Given the description of an element on the screen output the (x, y) to click on. 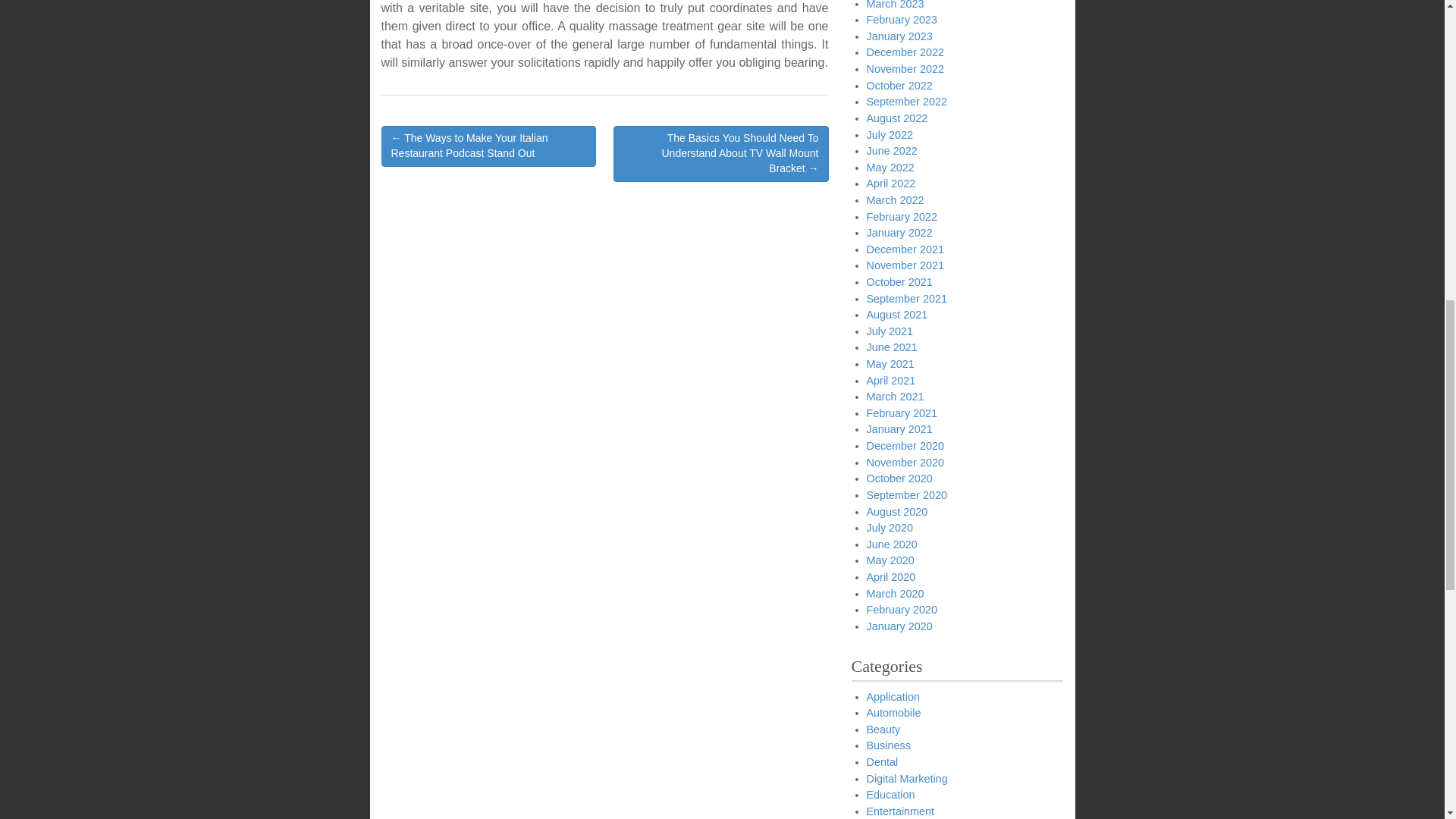
December 2022 (904, 51)
February 2023 (901, 19)
January 2023 (898, 36)
November 2022 (904, 69)
March 2023 (894, 4)
